Given the description of an element on the screen output the (x, y) to click on. 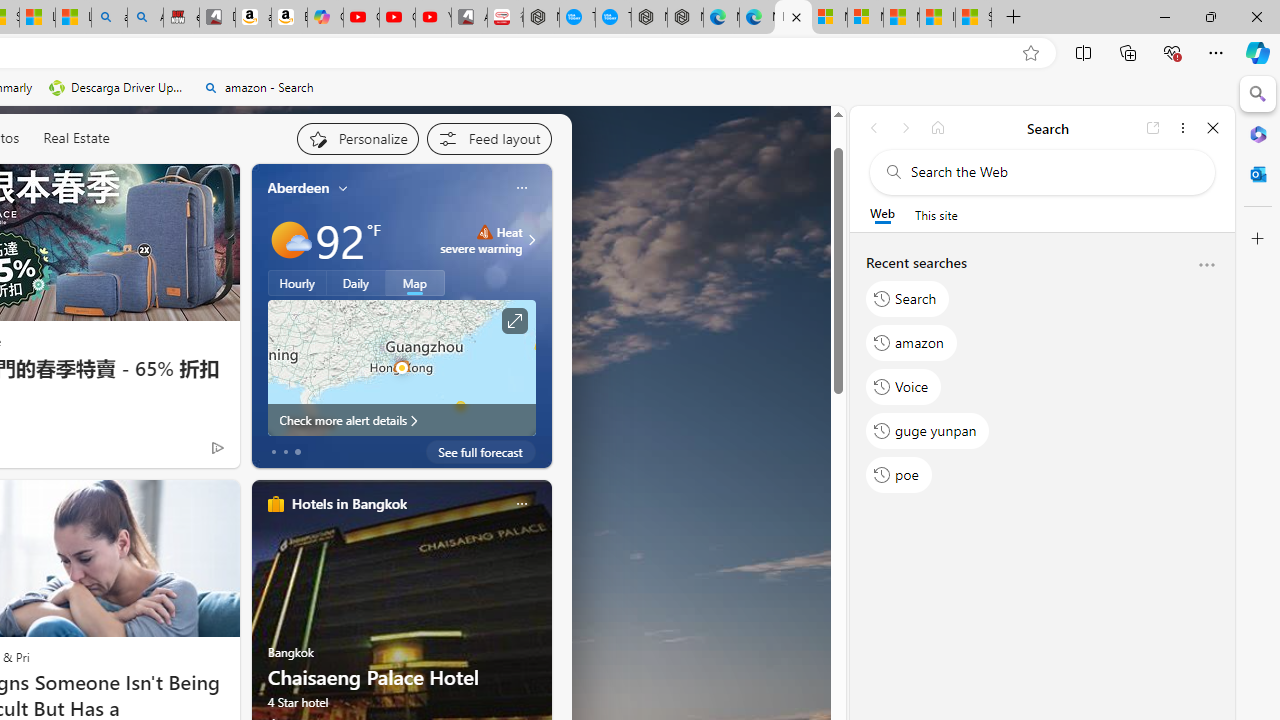
amazon (911, 342)
tab-2 (297, 451)
Customize (1258, 239)
Daily (356, 282)
Descarga Driver Updater (118, 88)
poe (898, 475)
Mostly sunny (289, 240)
amazon.in/dp/B0CX59H5W7/?tag=gsmcom05-21 (253, 17)
